Given the description of an element on the screen output the (x, y) to click on. 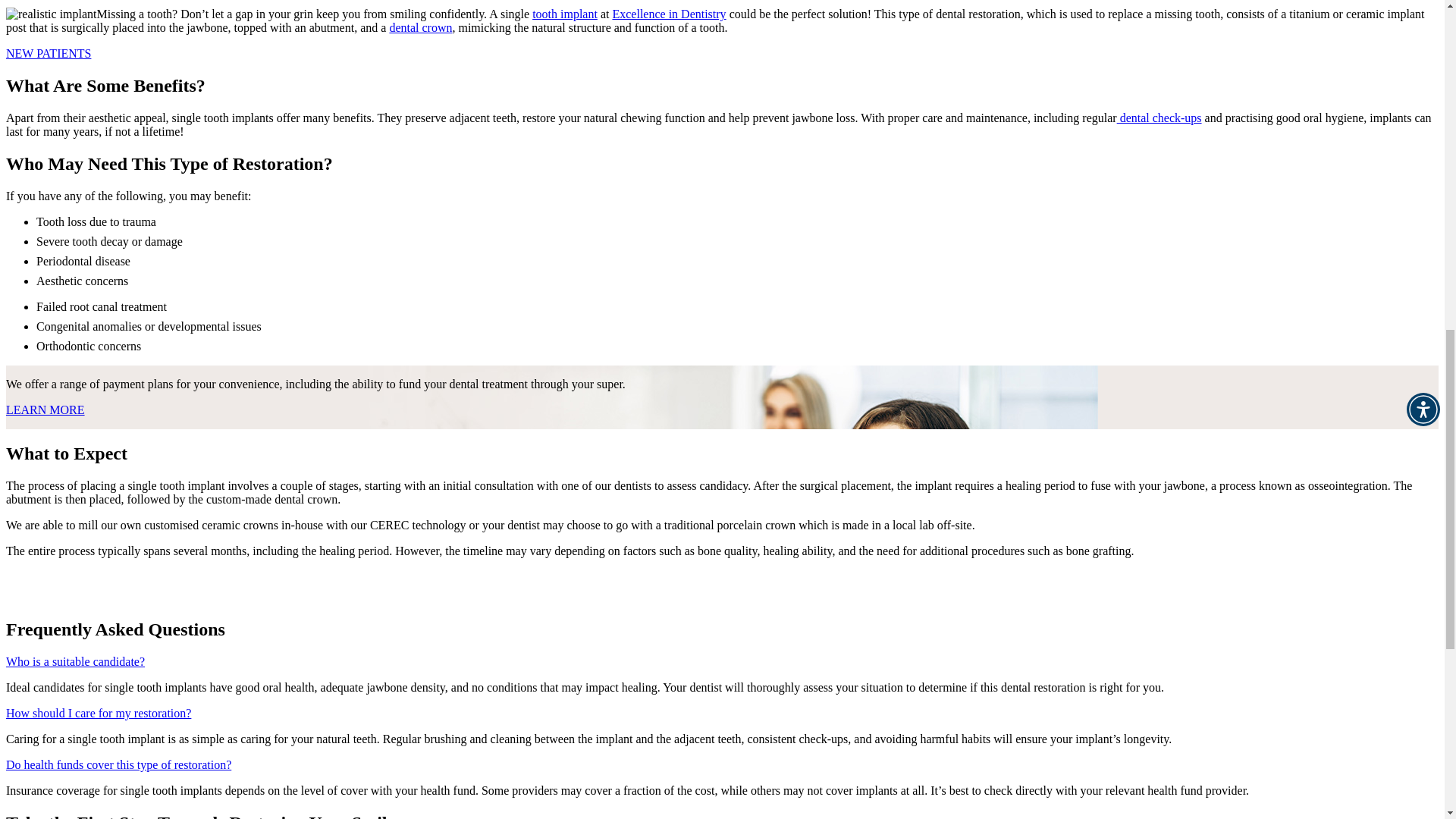
Who is a suitable candidate? (74, 661)
Do health funds cover this type of restoration? (118, 764)
How should I care for my restoration? (97, 712)
